Given the description of an element on the screen output the (x, y) to click on. 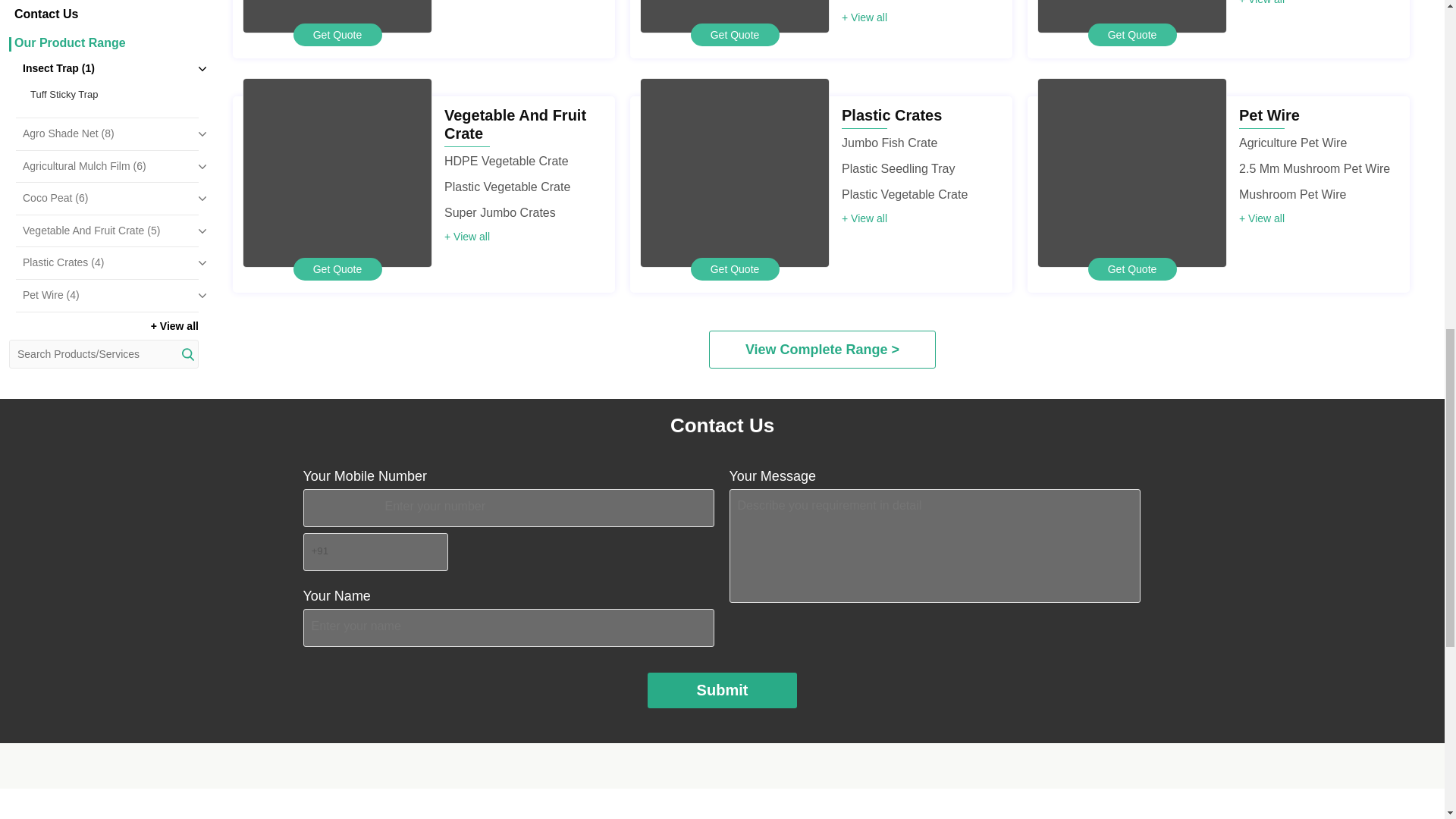
Submit (722, 690)
